Given the description of an element on the screen output the (x, y) to click on. 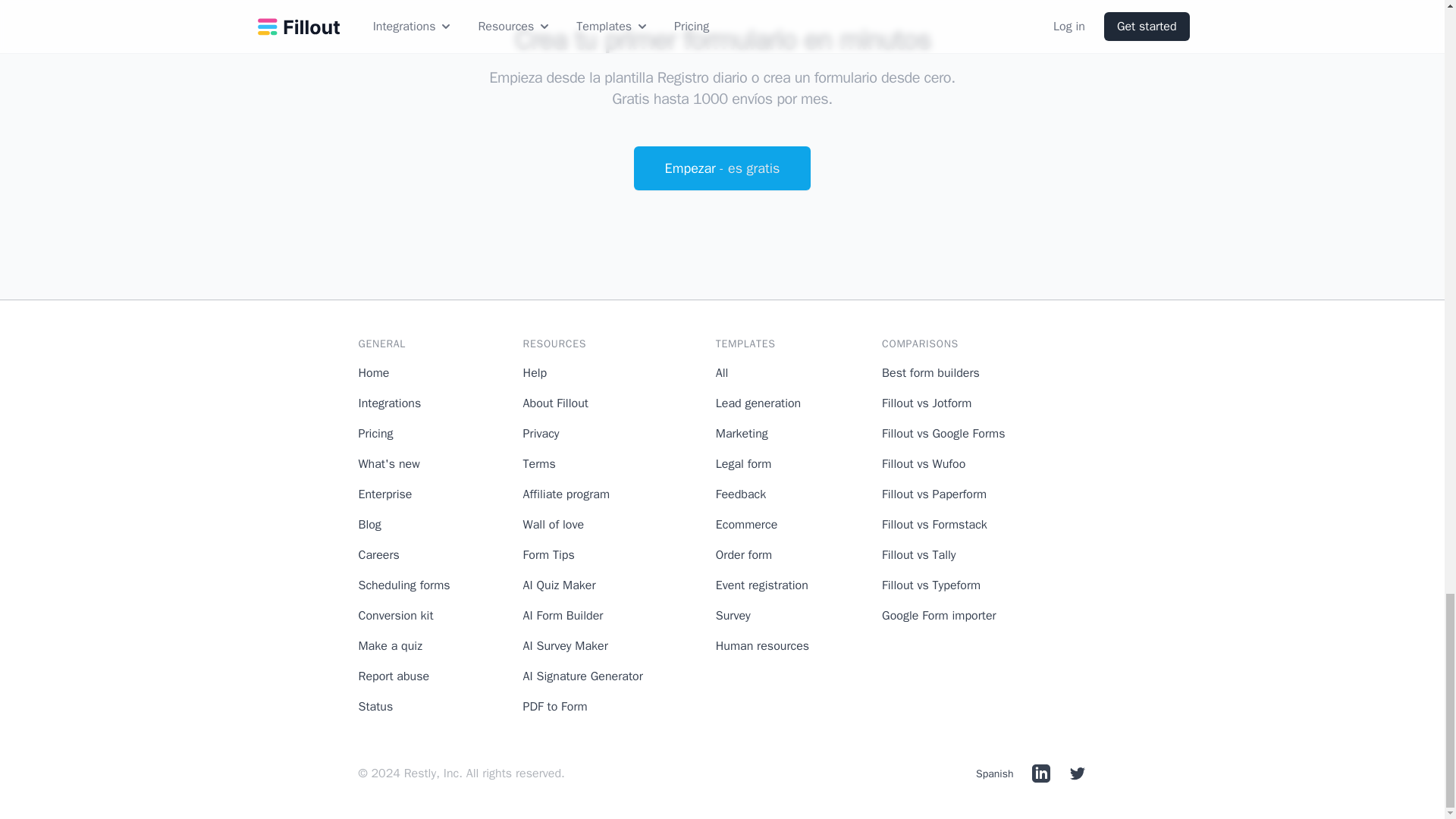
Make a quiz (390, 645)
Conversion kit (395, 615)
What's new (388, 463)
Scheduling forms (403, 585)
Help (534, 372)
Report abuse (393, 676)
Integrations (389, 403)
Privacy (540, 433)
Status (375, 706)
Affiliate program (566, 494)
Home (373, 372)
Empezar - es gratis (721, 168)
Careers (378, 554)
About Fillout (555, 403)
Enterprise (385, 494)
